Given the description of an element on the screen output the (x, y) to click on. 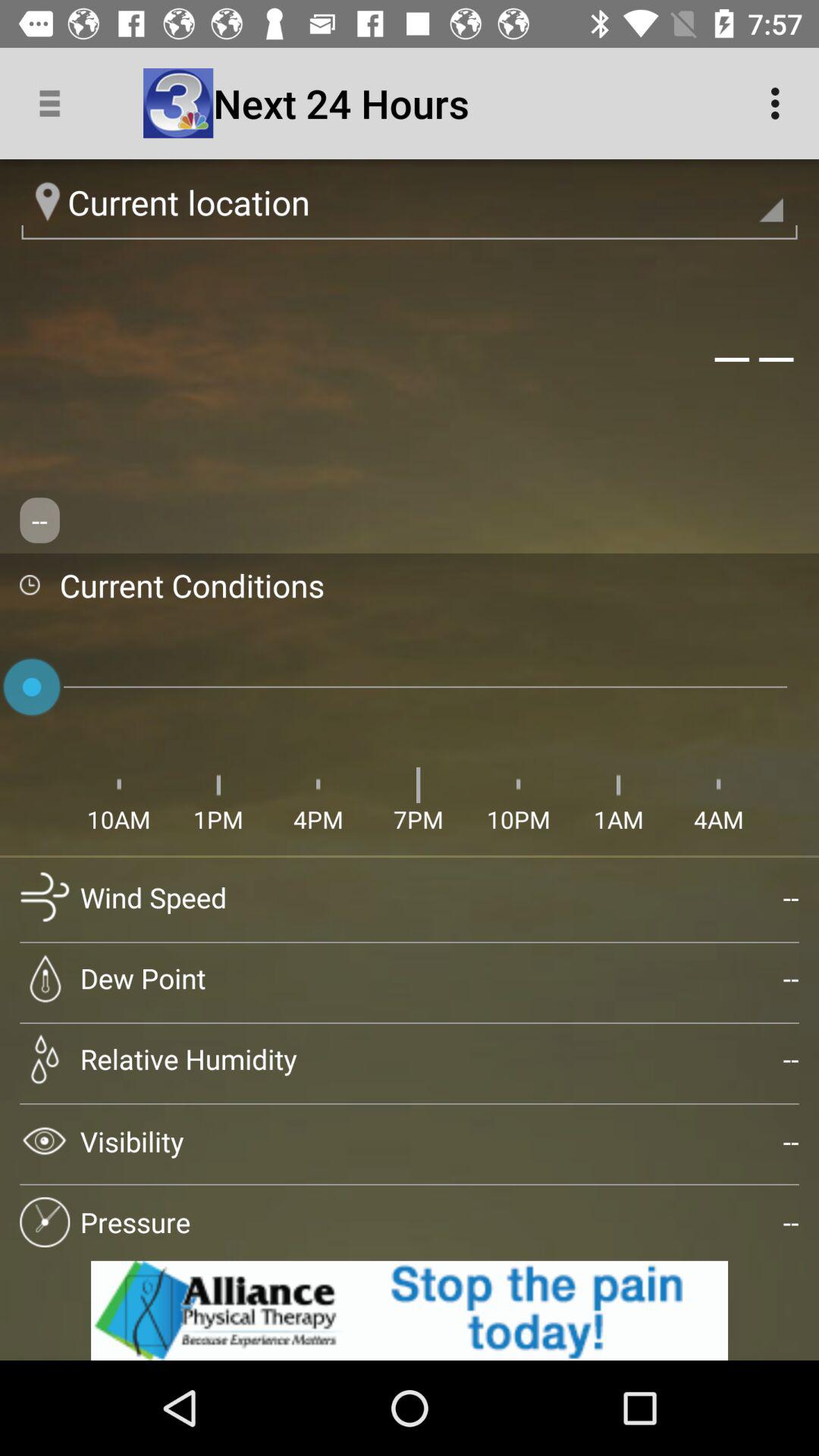
click on the  three dots more button (779, 103)
